Given the description of an element on the screen output the (x, y) to click on. 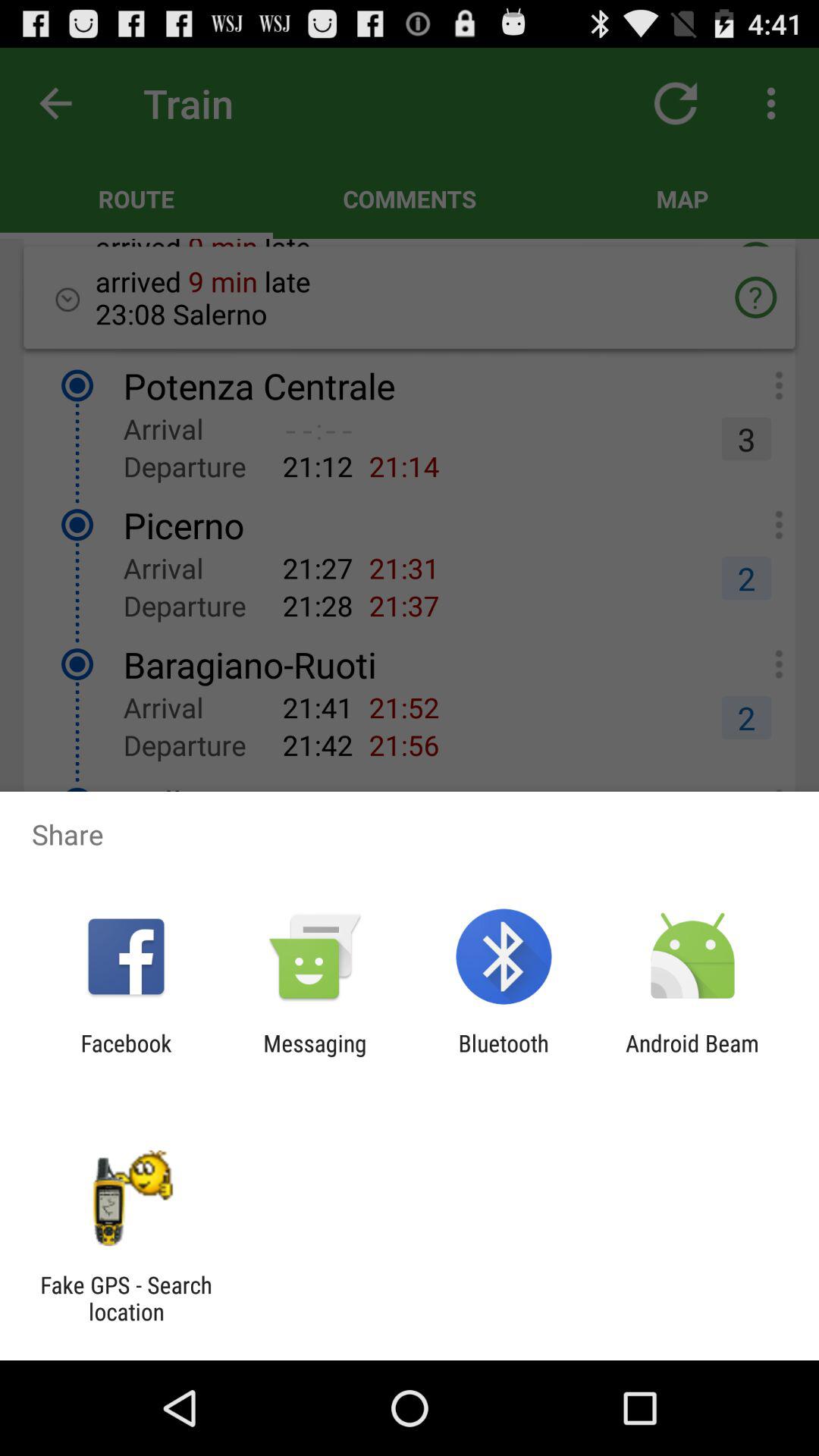
swipe to messaging item (314, 1056)
